Given the description of an element on the screen output the (x, y) to click on. 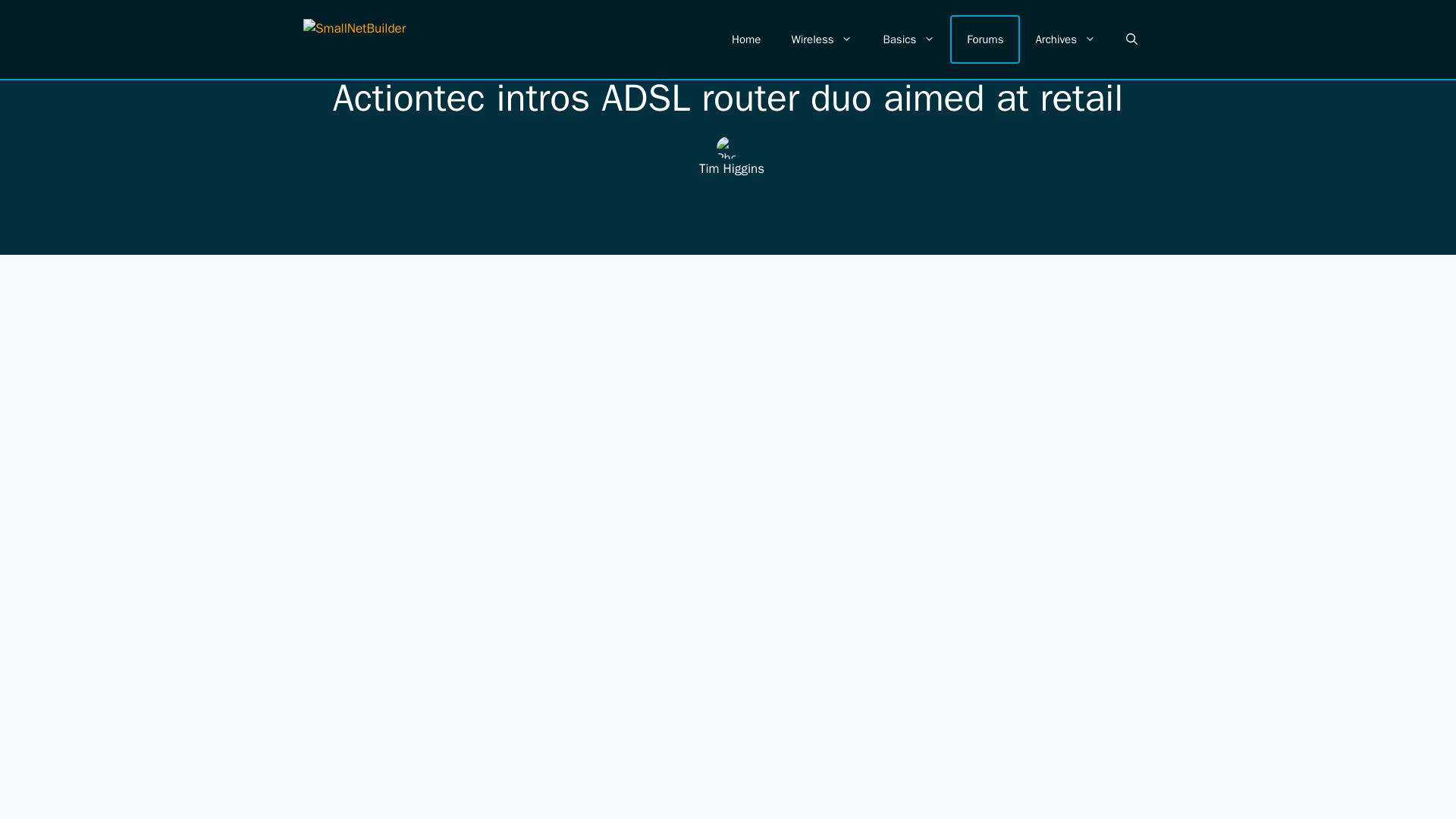
Forums (984, 39)
Home (746, 39)
Wireless (821, 39)
Archives (1065, 39)
Basics (908, 39)
